Given the description of an element on the screen output the (x, y) to click on. 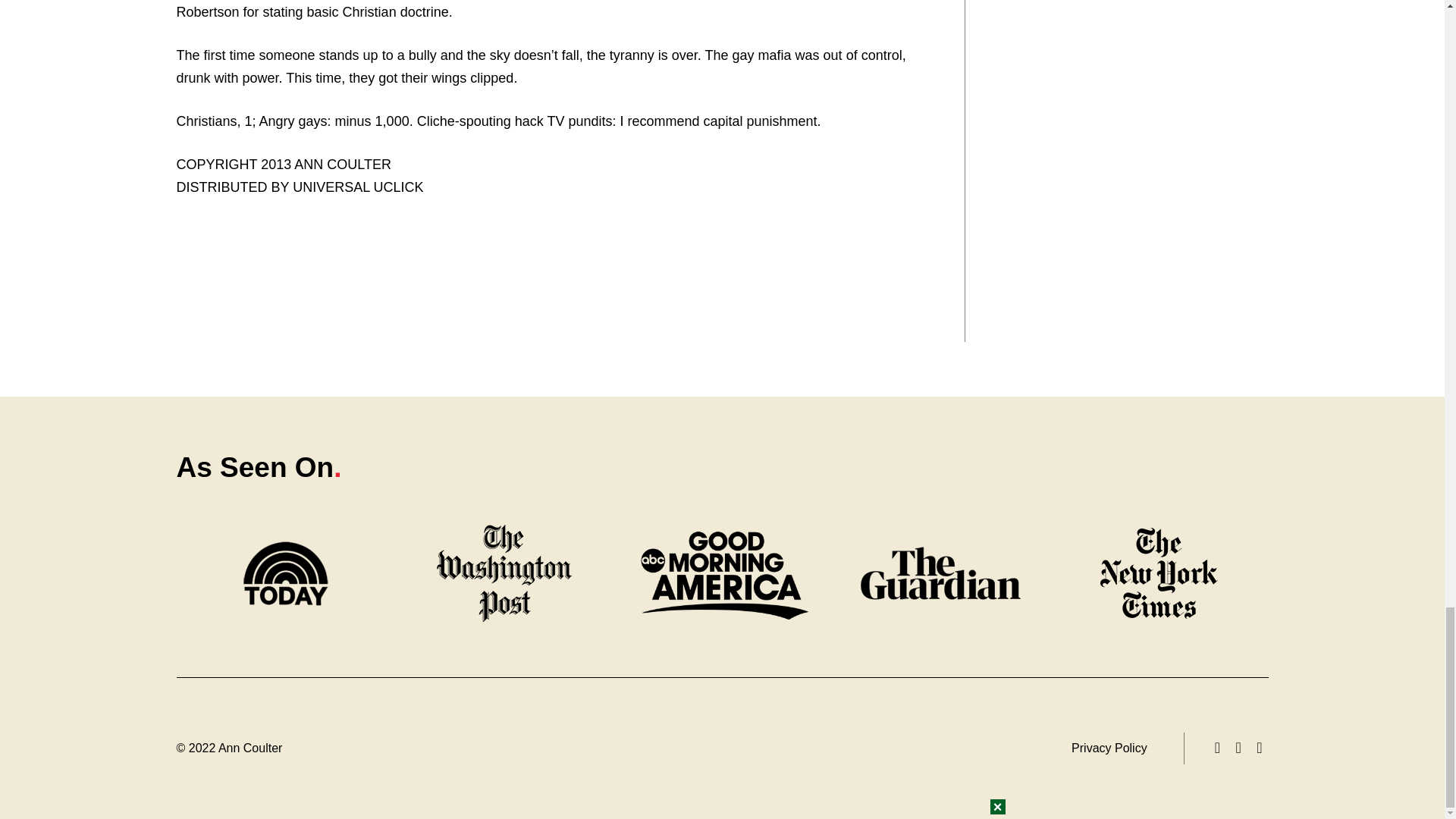
Privacy Policy (1109, 748)
